Given the description of an element on the screen output the (x, y) to click on. 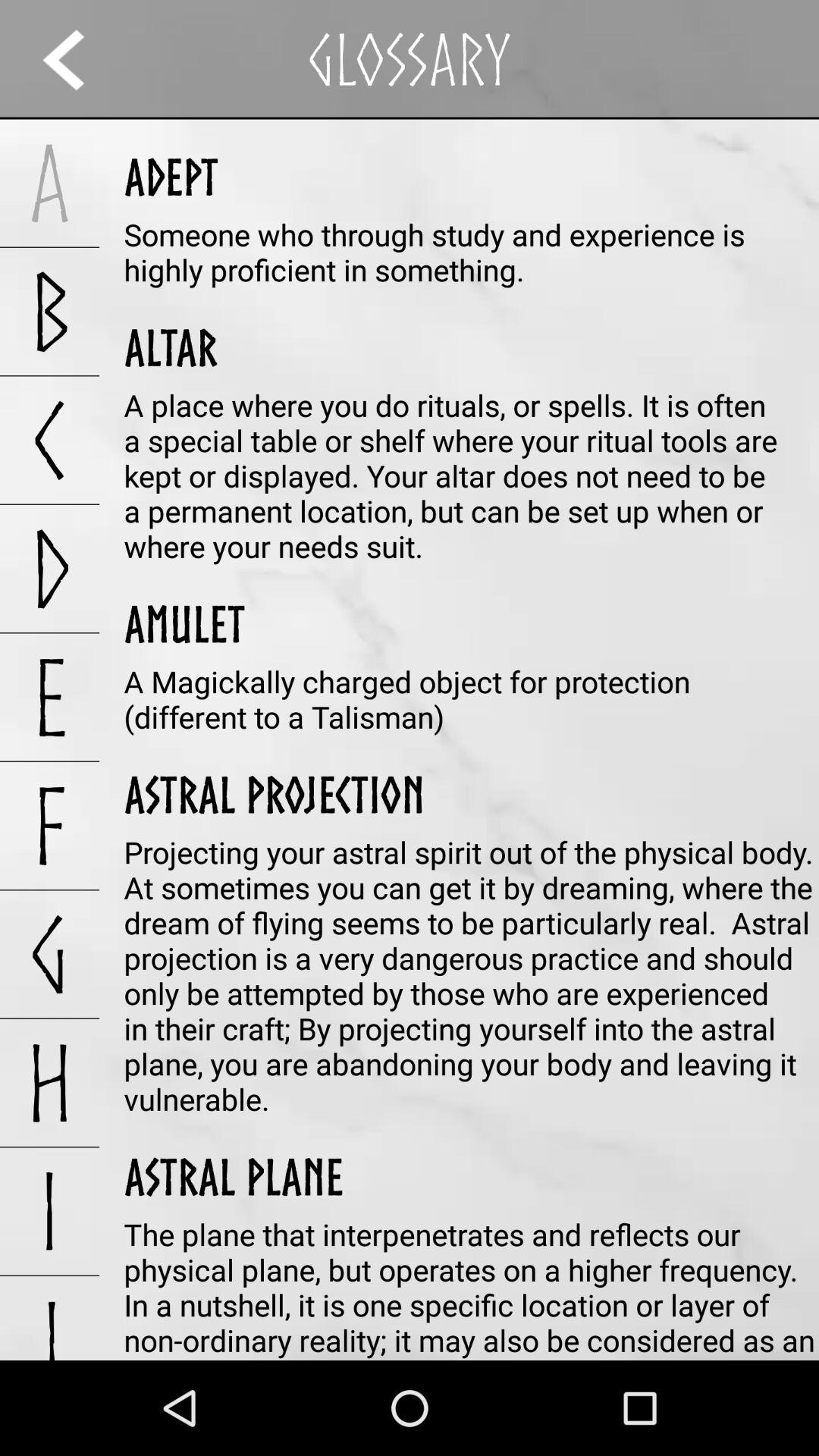
click app next to a (170, 176)
